Given the description of an element on the screen output the (x, y) to click on. 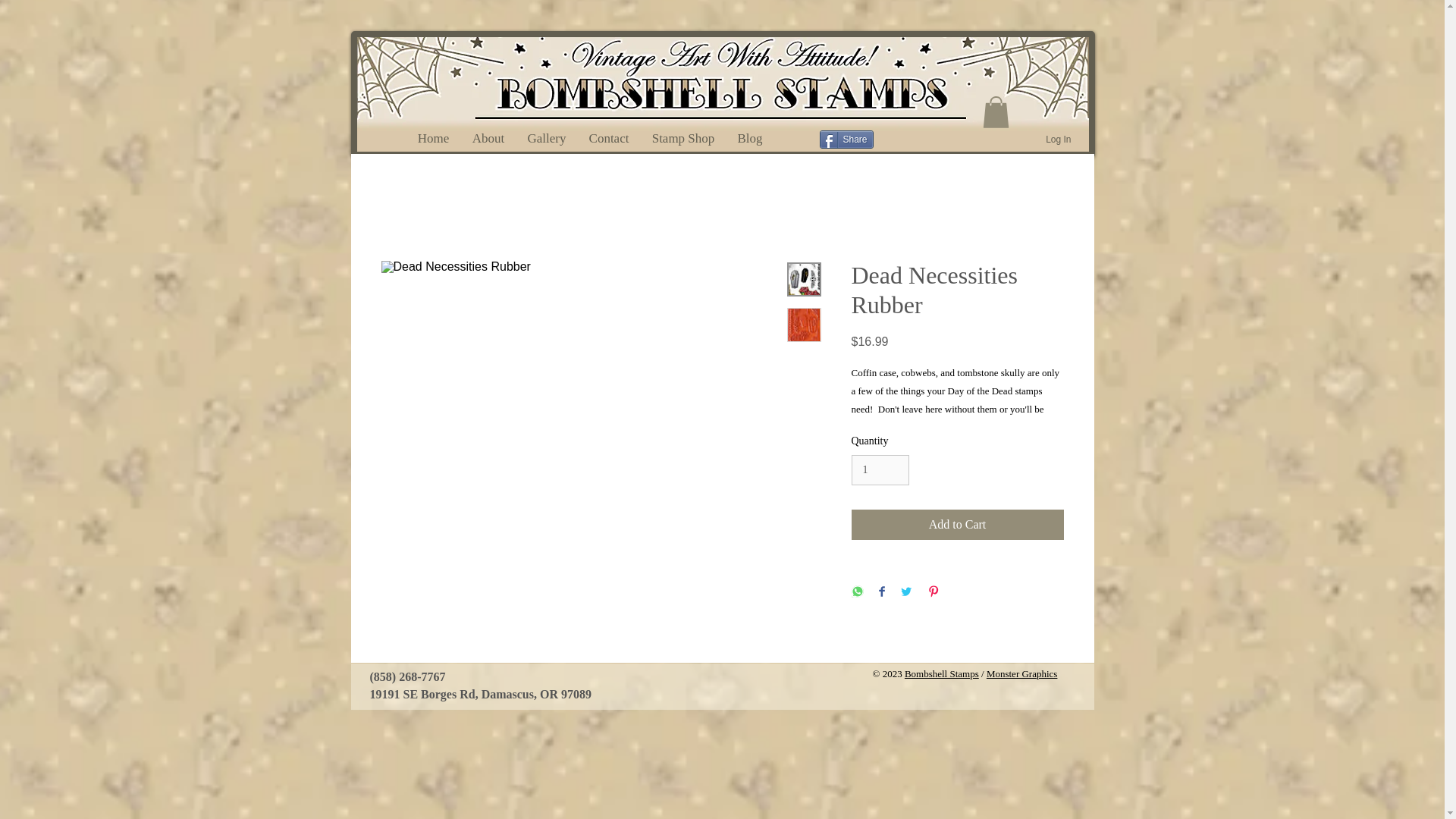
Share (845, 139)
Add to Cart (956, 524)
About (488, 138)
Home (433, 138)
Contact (609, 138)
Stamp Shop (682, 138)
Blog (750, 138)
Monster Graphics (1022, 673)
1 (879, 470)
Log In (1058, 139)
Bombshell Stamps (941, 673)
Gallery (545, 138)
Share (845, 139)
